Given the description of an element on the screen output the (x, y) to click on. 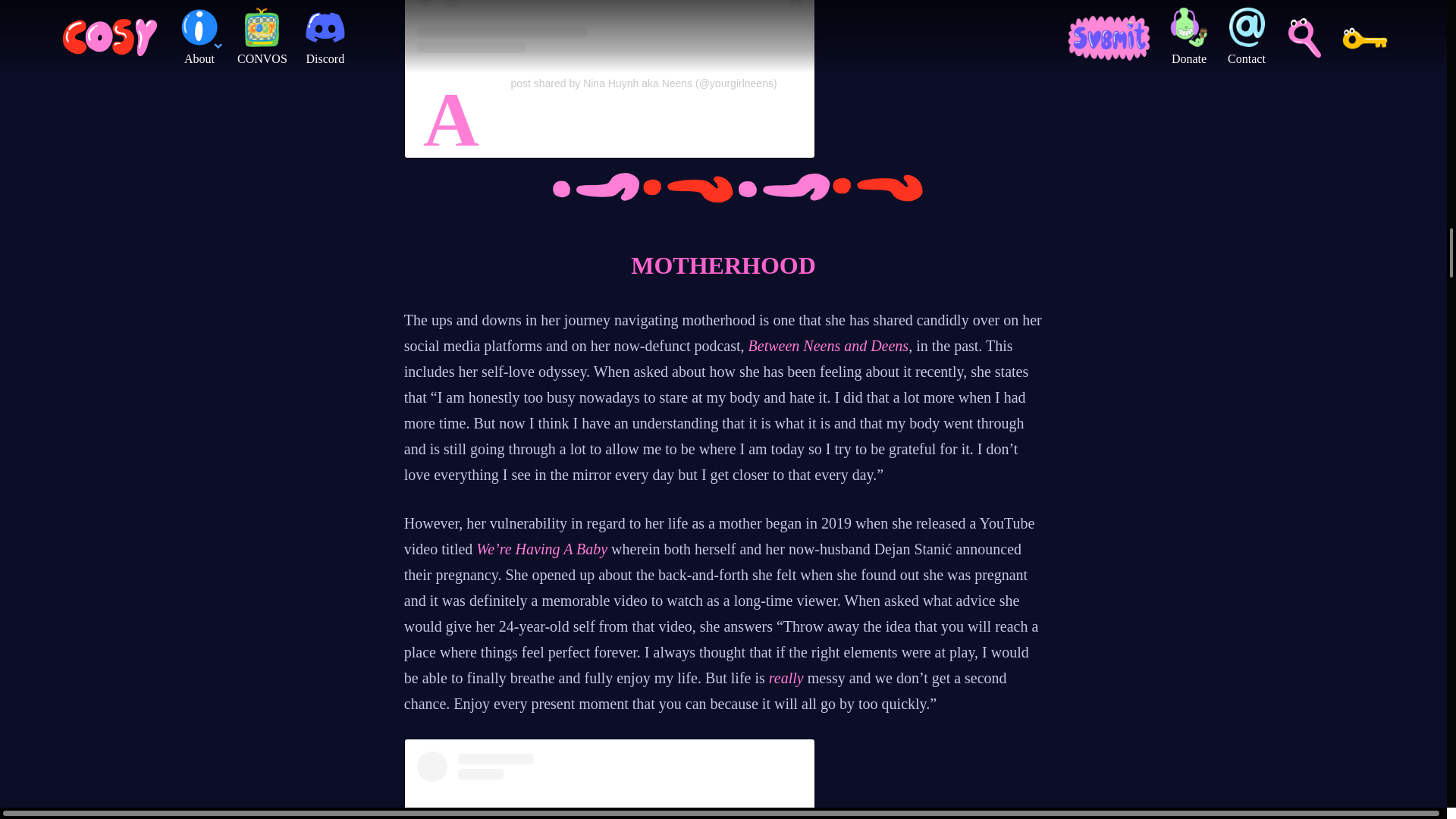
View this post on Instagram (609, 785)
View this post on Instagram (609, 26)
